Given the description of an element on the screen output the (x, y) to click on. 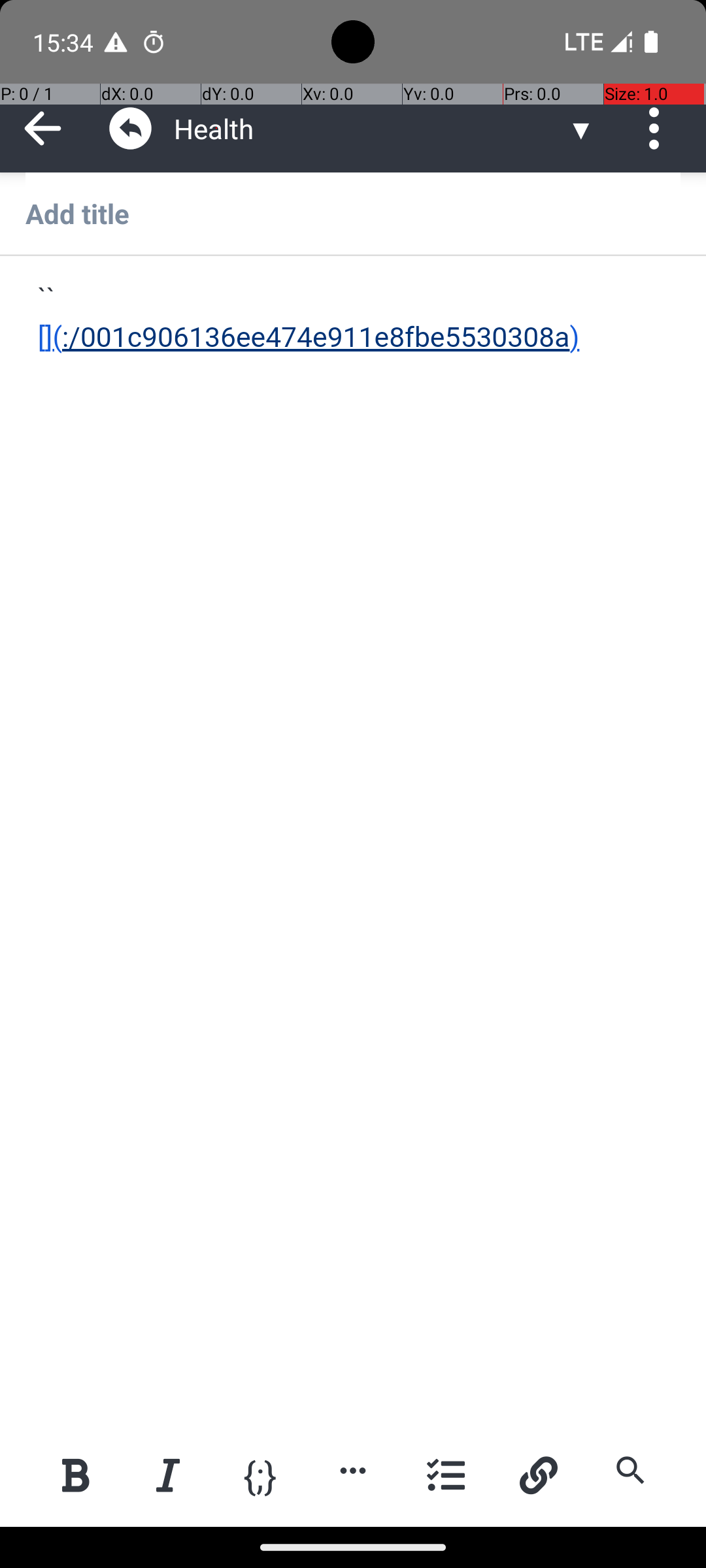
Add title Element type: android.widget.EditText (352, 213)
 Element type: android.widget.TextView (130, 127)

[](:/001c906136ee474e911e8fbe5530308a) Element type: android.widget.EditText (354, 318)
